Given the description of an element on the screen output the (x, y) to click on. 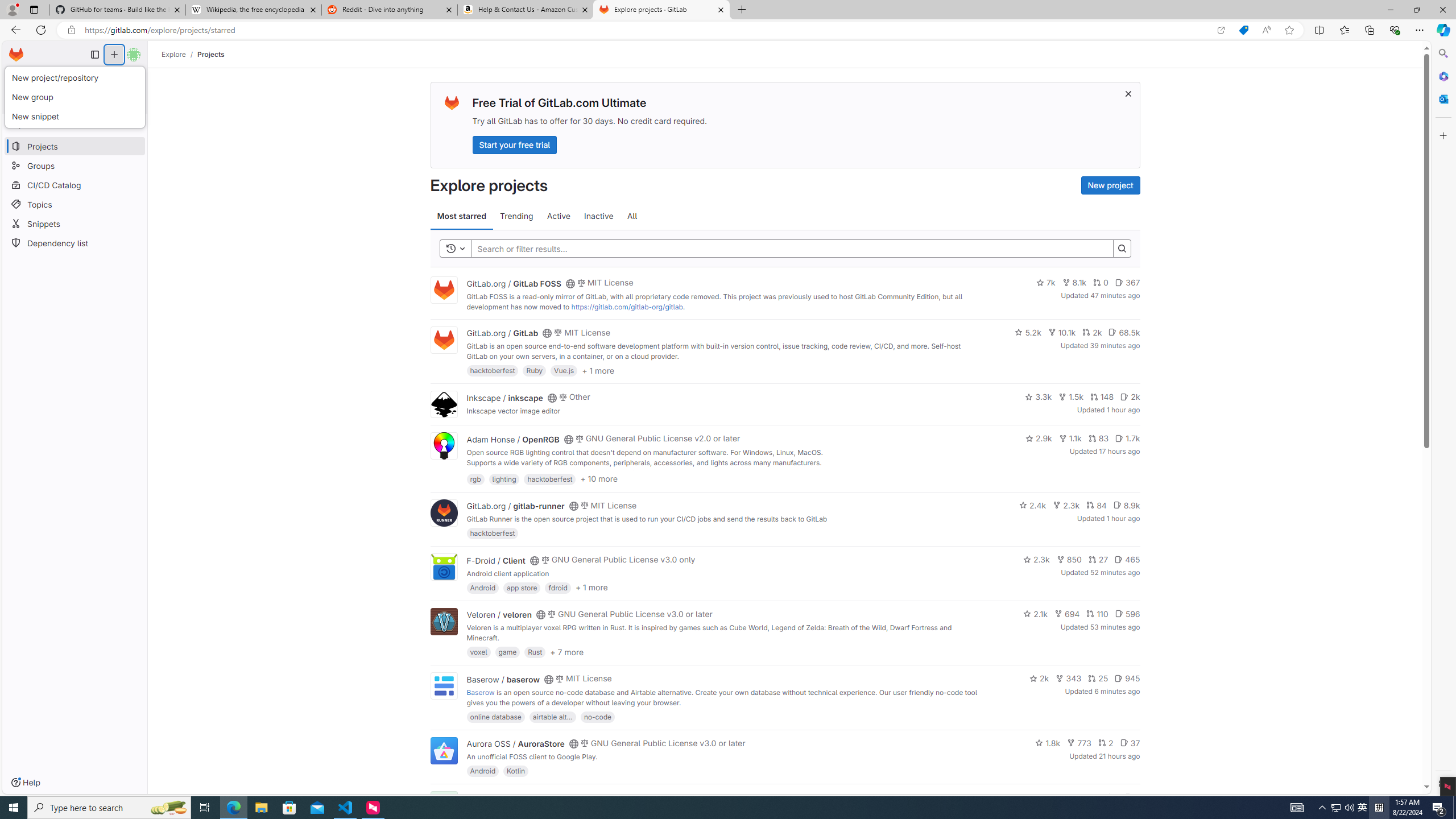
83 (1098, 438)
Aurora OSS / AuroraStore (514, 743)
hacktoberfest (492, 533)
Groups (74, 165)
F-Droid / Client (495, 560)
694 (1067, 613)
To-Do list 0 (120, 76)
New project (1110, 185)
Vue.js (563, 370)
airtable alt... (552, 715)
8.9k (1126, 504)
